Given the description of an element on the screen output the (x, y) to click on. 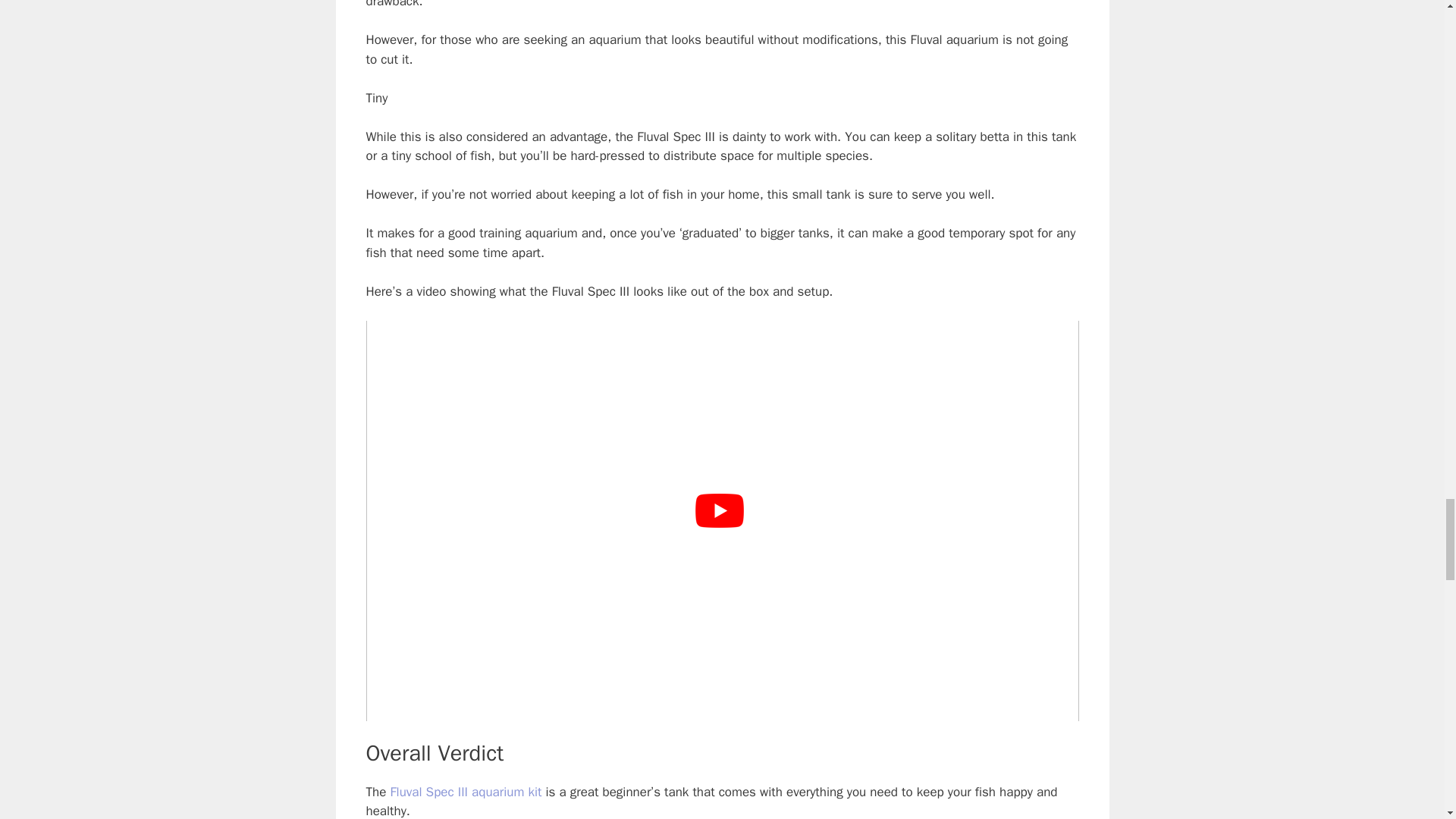
Fluval Spec III aquarium kit (465, 791)
